Given the description of an element on the screen output the (x, y) to click on. 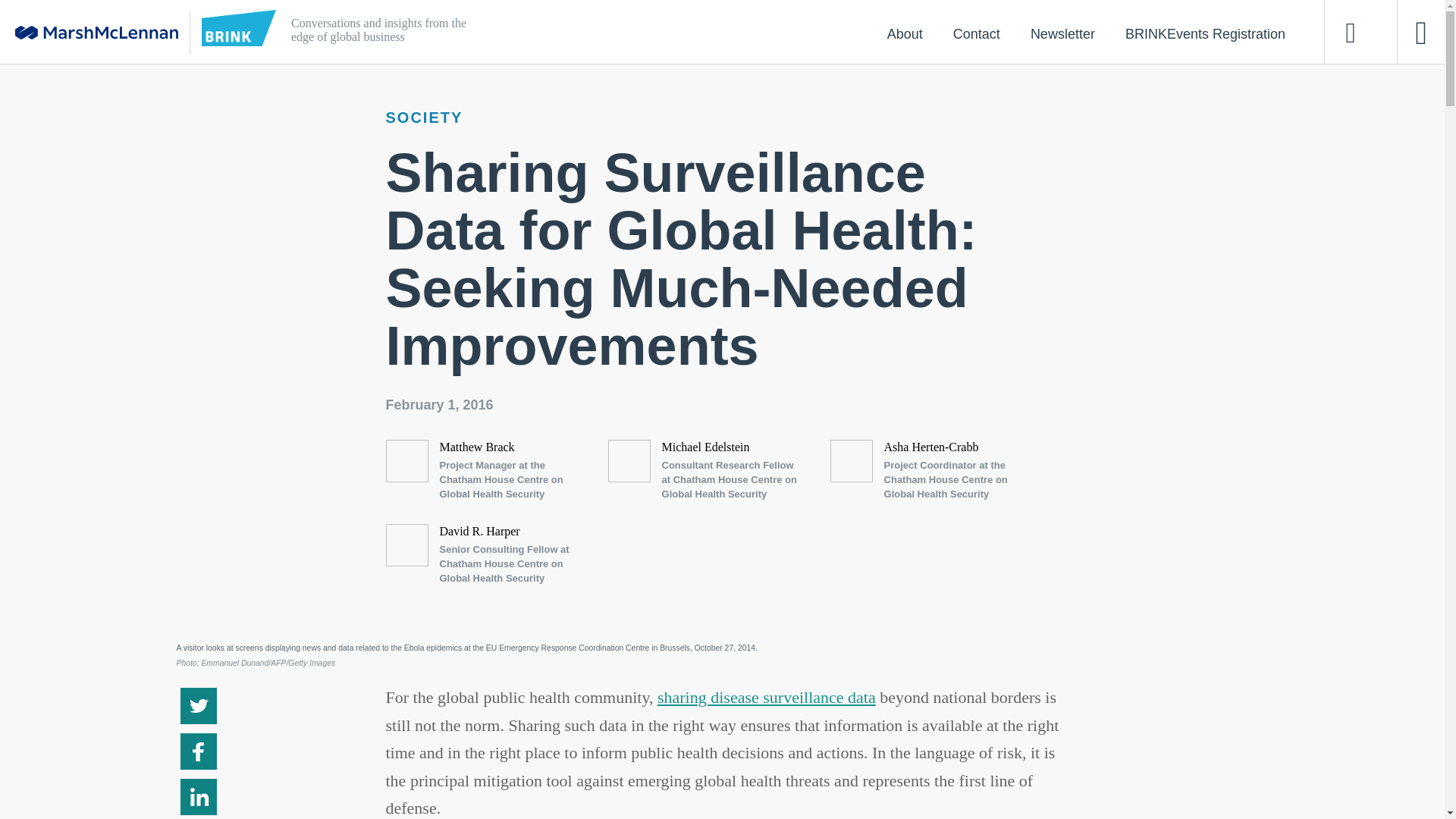
Matthew Brack (477, 446)
Newsletter (1061, 33)
Contact (975, 33)
BRINKEvents Registration (1204, 33)
Asha Herten-Crabb (930, 446)
Conversations and insights from the edge of global business (653, 32)
Michael Edelstein (705, 446)
SOCIETY (424, 117)
David R. Harper (479, 530)
About (904, 33)
